Given the description of an element on the screen output the (x, y) to click on. 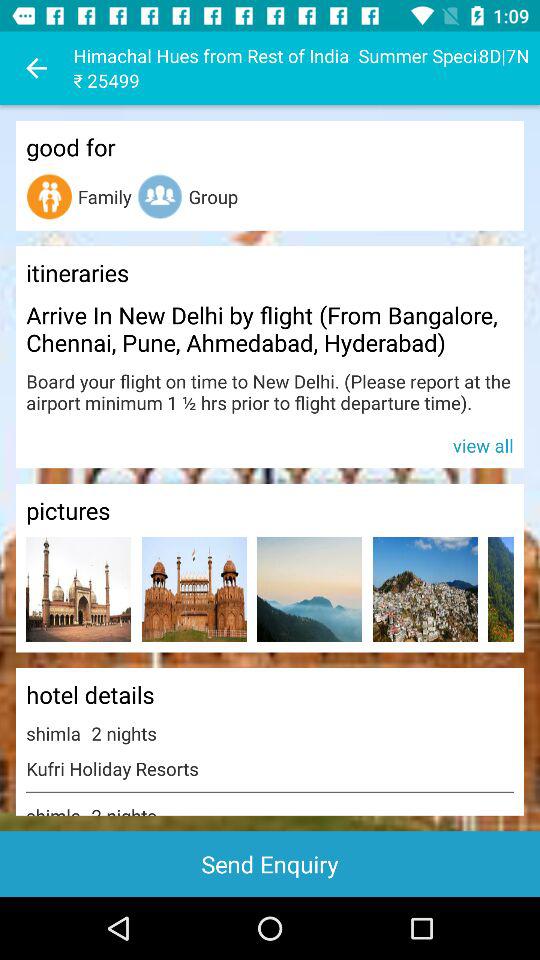
next image (500, 589)
